Given the description of an element on the screen output the (x, y) to click on. 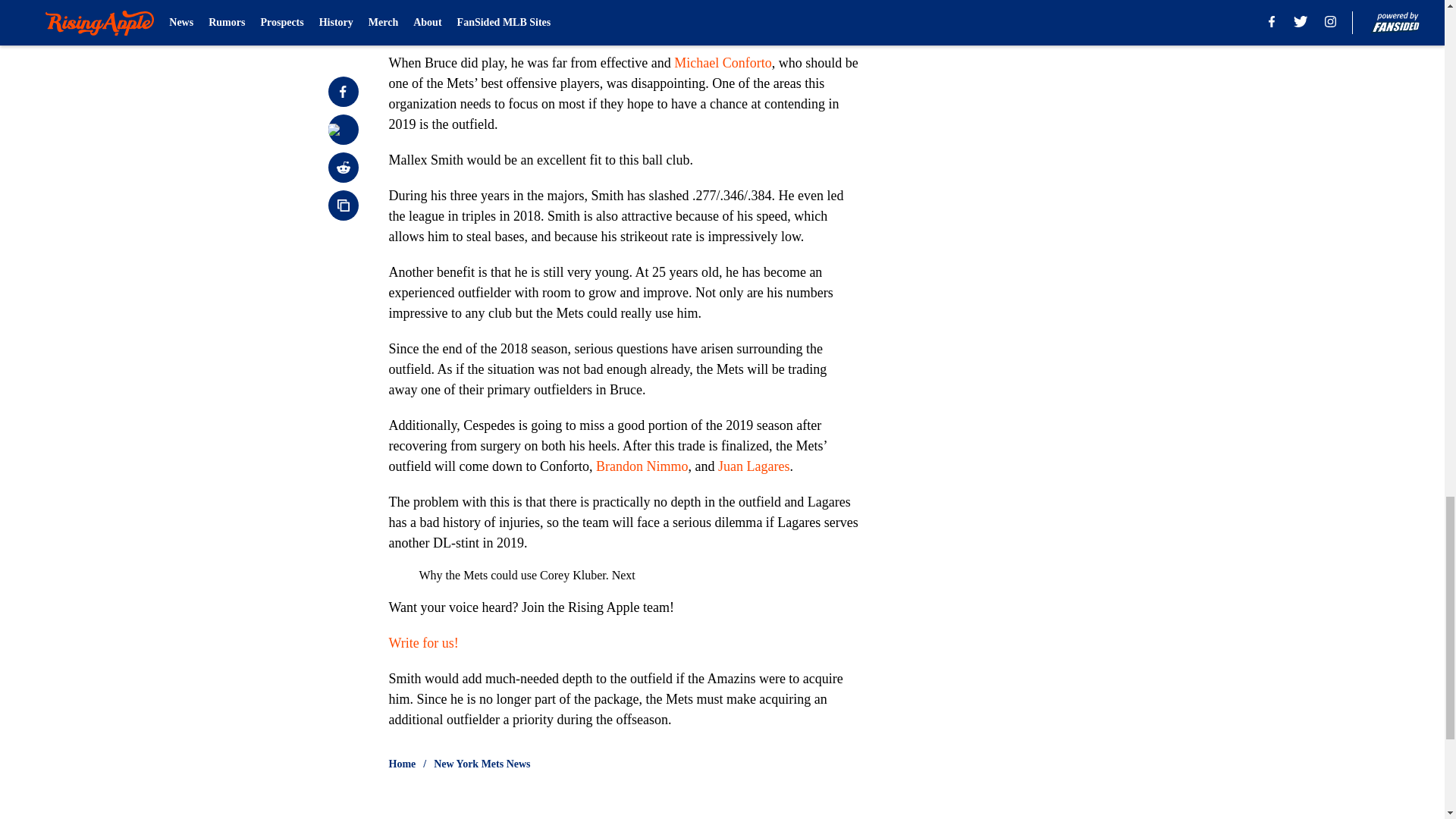
Juan Lagares (753, 466)
Brandon Nimmo (641, 466)
NY Mets Friday Farming: Realistic ETAs for top prospects (564, 7)
Home (401, 764)
Michael Conforto (722, 62)
New York Mets News (481, 764)
Write for us! (423, 642)
